Given the description of an element on the screen output the (x, y) to click on. 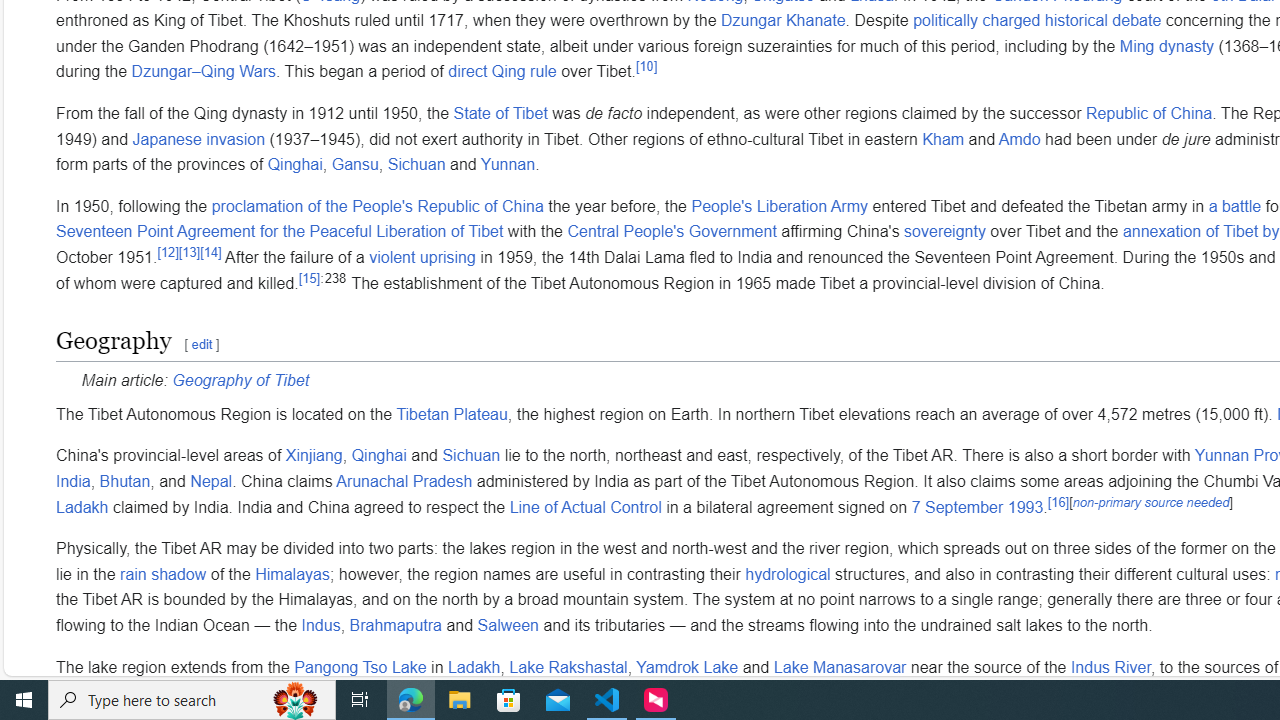
[12] (168, 251)
Nepal (210, 482)
Qinghai (378, 456)
Japanese invasion (198, 139)
[14] (210, 251)
Ladakh (473, 667)
Arunachal Pradesh (404, 482)
India (73, 482)
[16] (1058, 501)
Geography of Tibet (240, 381)
People's Liberation Army (779, 206)
Ming dynasty (1166, 45)
Pangong Tso Lake (360, 667)
Amdo (1019, 139)
